Given the description of an element on the screen output the (x, y) to click on. 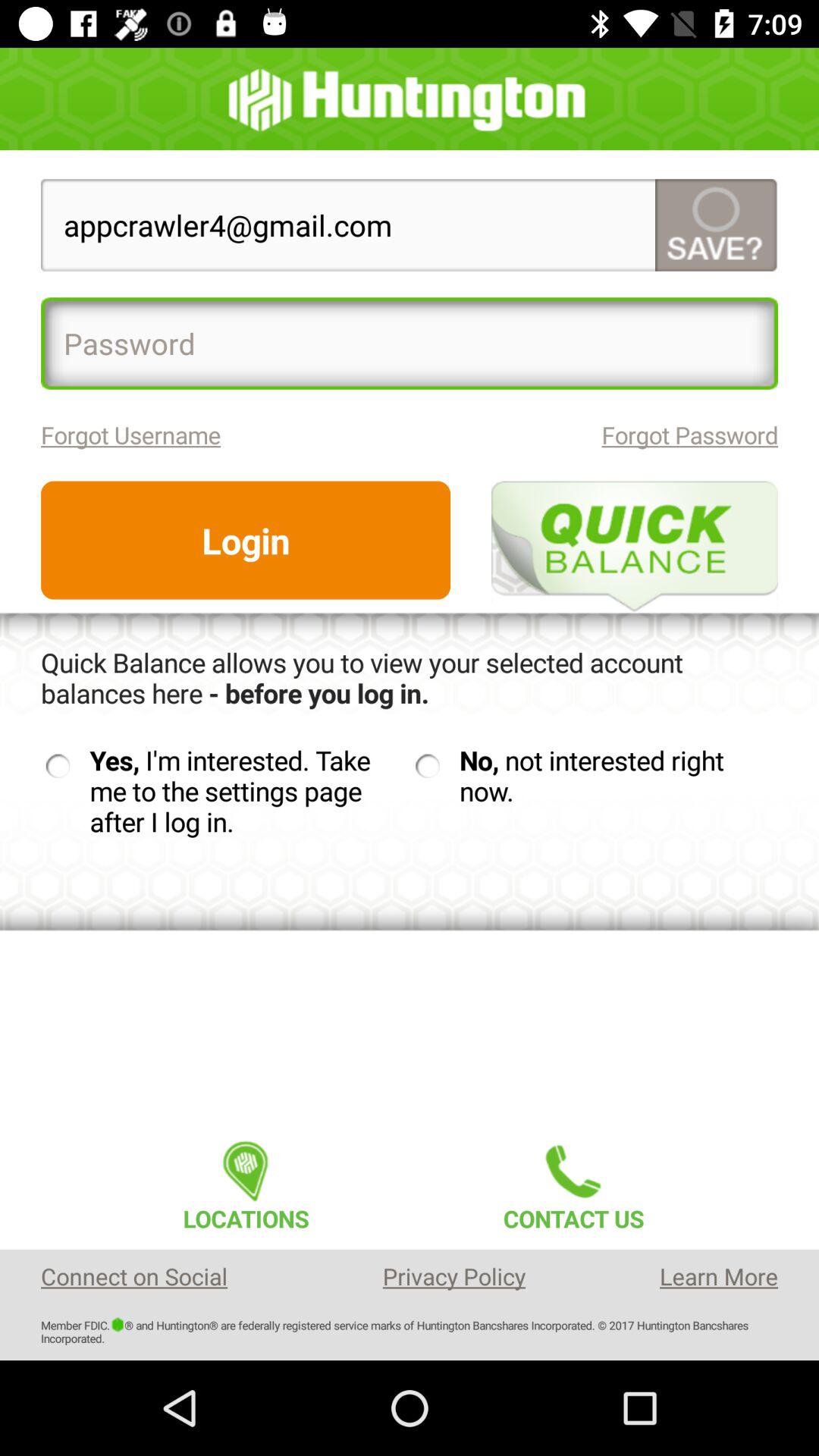
launch item below appcrawler4@gmail.com icon (409, 343)
